Given the description of an element on the screen output the (x, y) to click on. 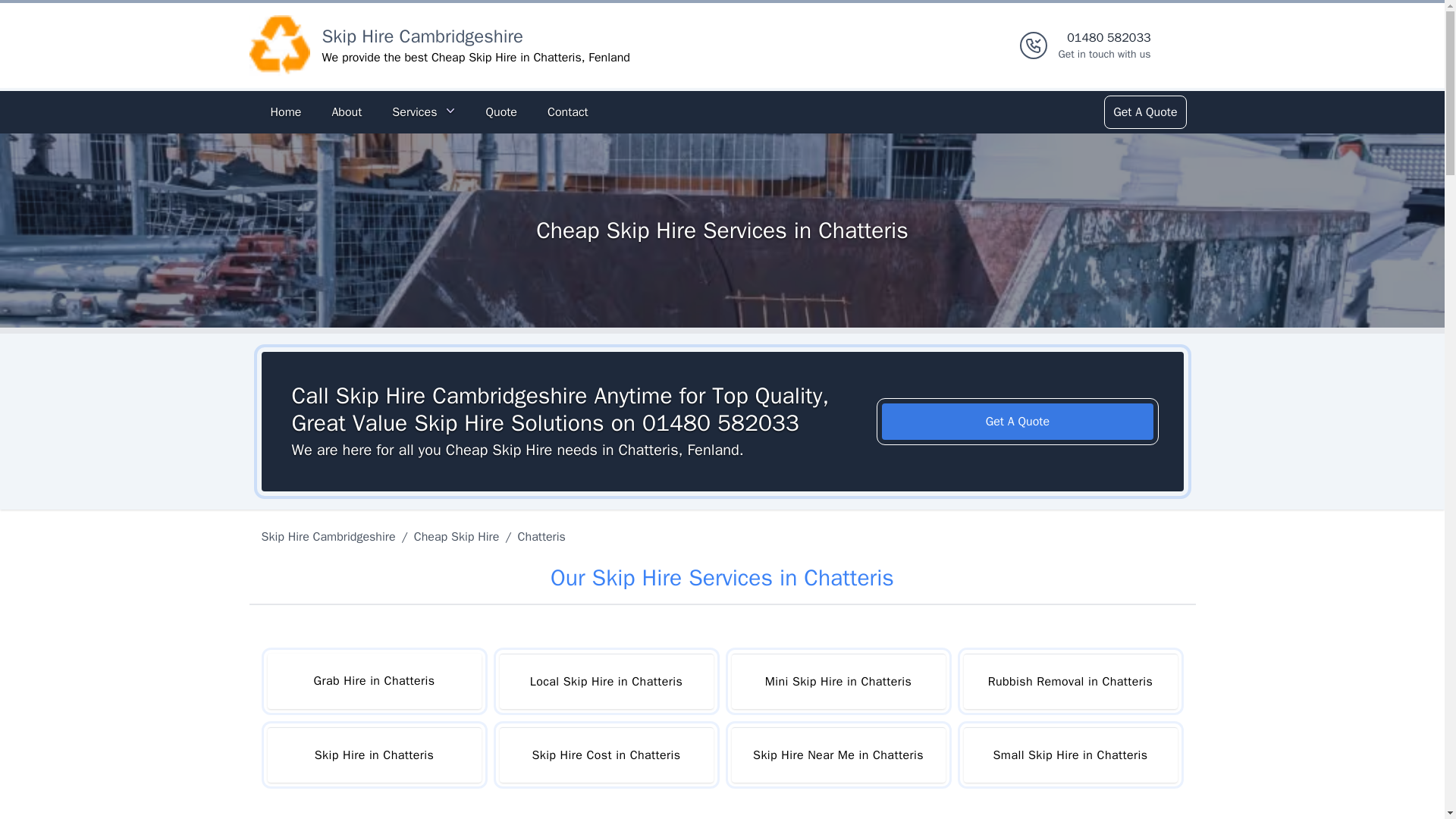
Home (285, 112)
About (346, 112)
Skip Hire Near Me in Chatteris (837, 754)
Get A Quote (1144, 112)
Skip Hire in Chatteris (373, 754)
Rubbish Removal in Chatteris (1069, 681)
Small Skip Hire in Chatteris (1069, 754)
Grab Hire in Chatteris (373, 681)
Cheap Skip Hire (456, 536)
Contact (567, 112)
